Given the description of an element on the screen output the (x, y) to click on. 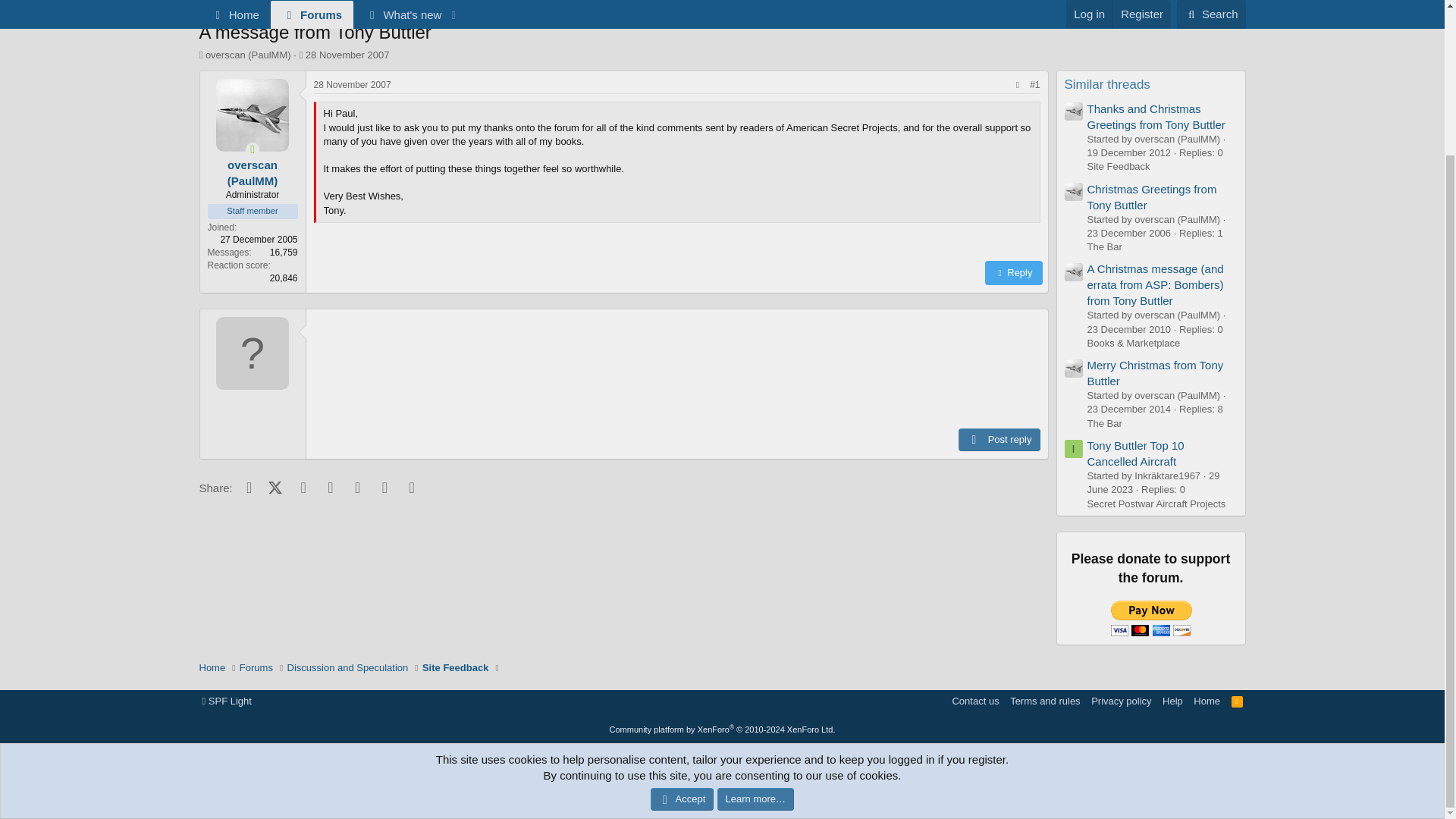
23 December 2006 at 09:44 (1129, 233)
28 November 2007 at 14:03 (347, 54)
29 June 2023 at 09:20 (1153, 482)
Site Feedback (454, 7)
Forums (256, 7)
RSS (1237, 700)
Reply (1013, 273)
Home (211, 7)
23 December 2014 at 12:28 (1129, 408)
Post reply (998, 439)
